Given the description of an element on the screen output the (x, y) to click on. 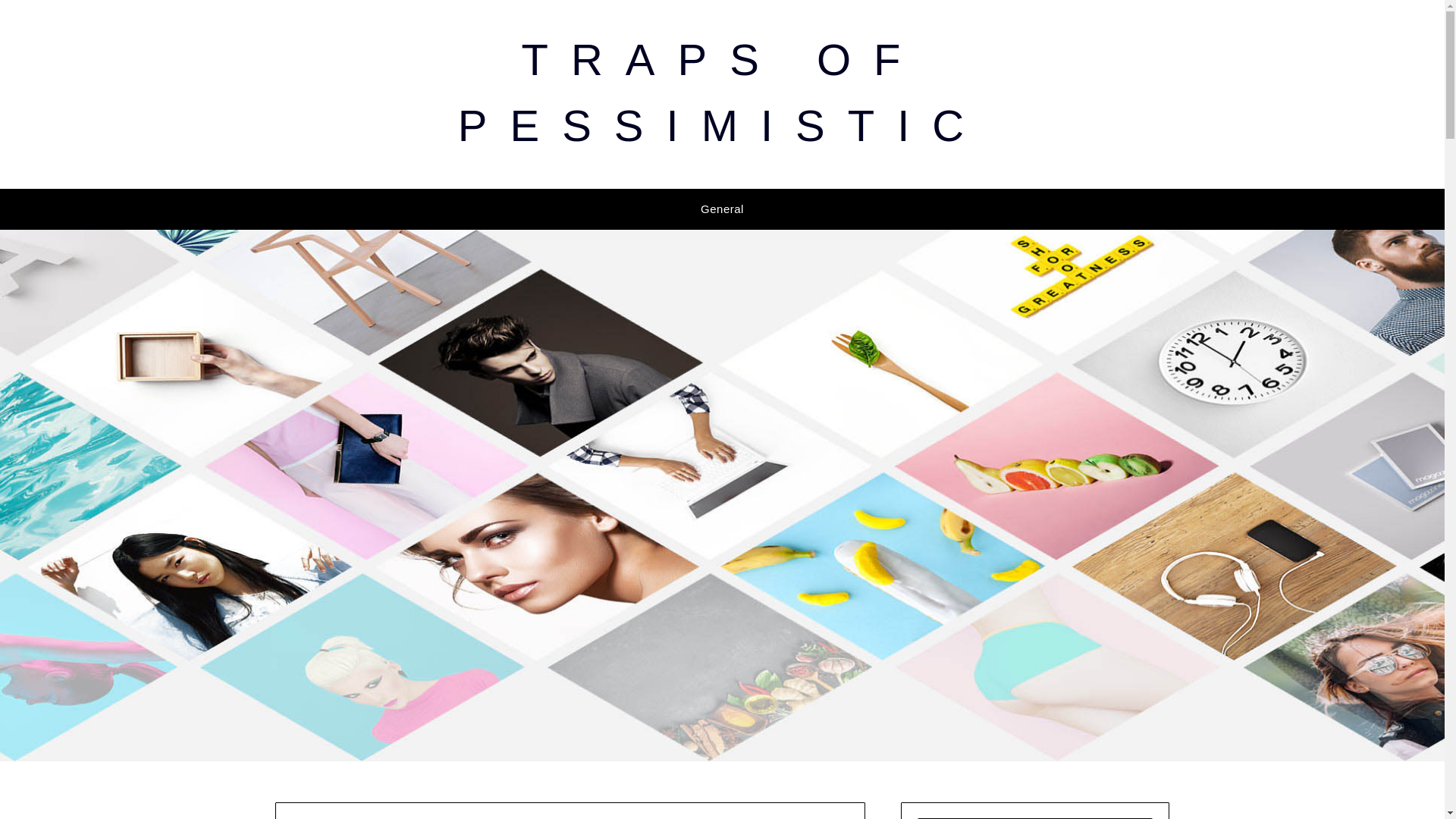
General (721, 209)
Search (38, 22)
TRAPS OF PESSIMISTIC (722, 92)
